Given the description of an element on the screen output the (x, y) to click on. 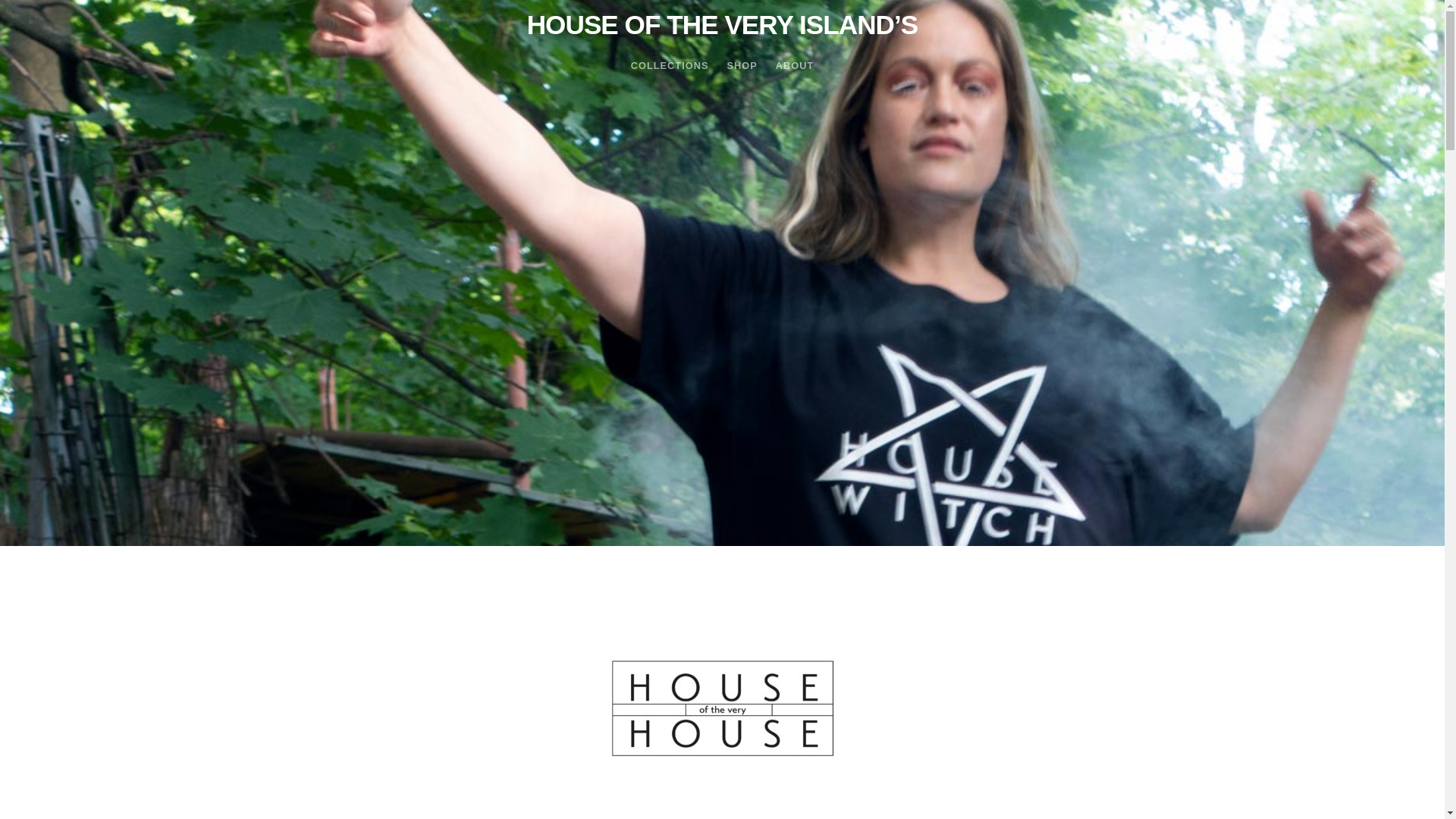
COLLECTIONS (669, 65)
SHOP (741, 65)
ABOUT (795, 65)
